Given the description of an element on the screen output the (x, y) to click on. 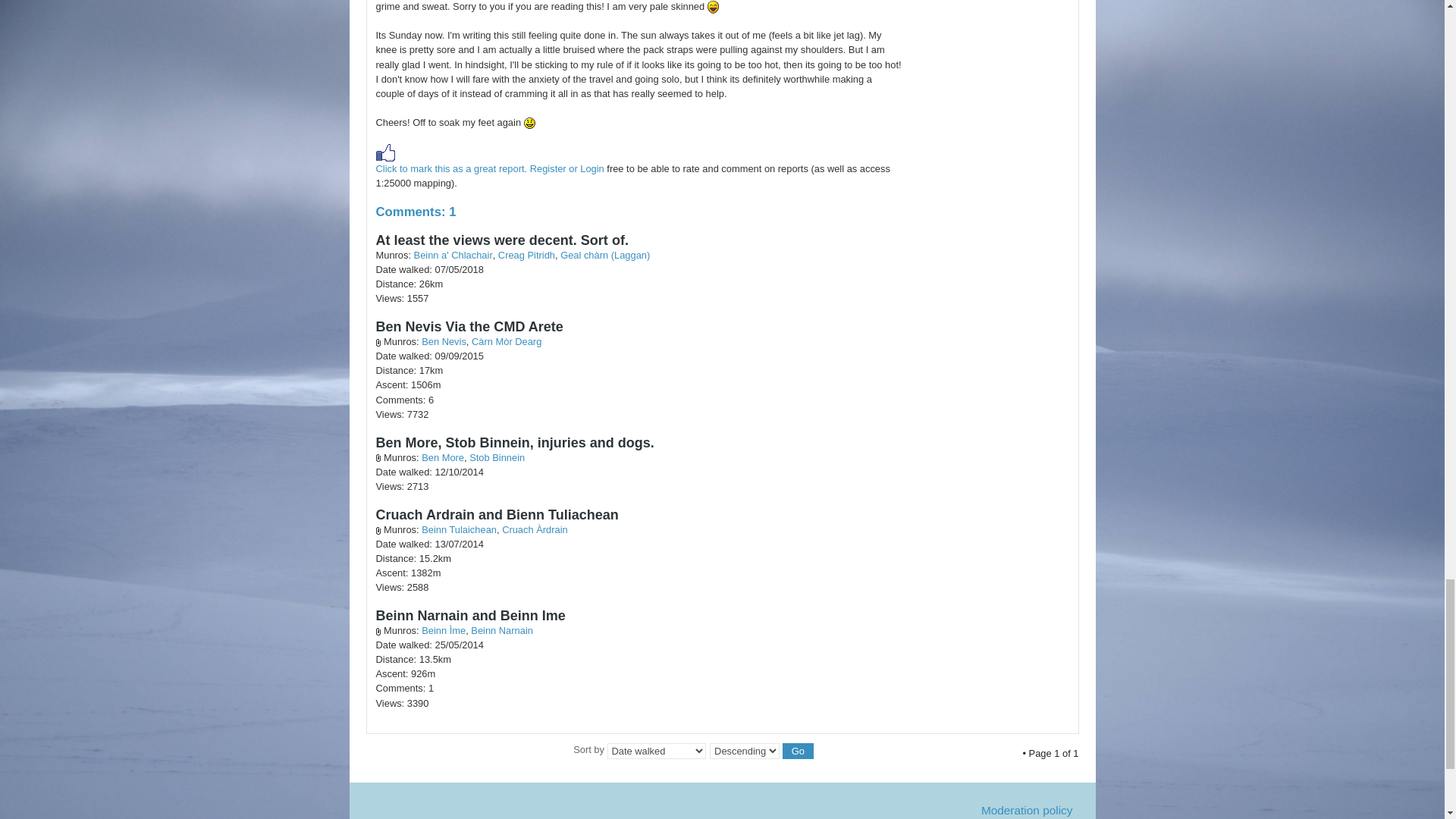
Smile (529, 122)
Go (798, 750)
Laughing (713, 6)
